Given the description of an element on the screen output the (x, y) to click on. 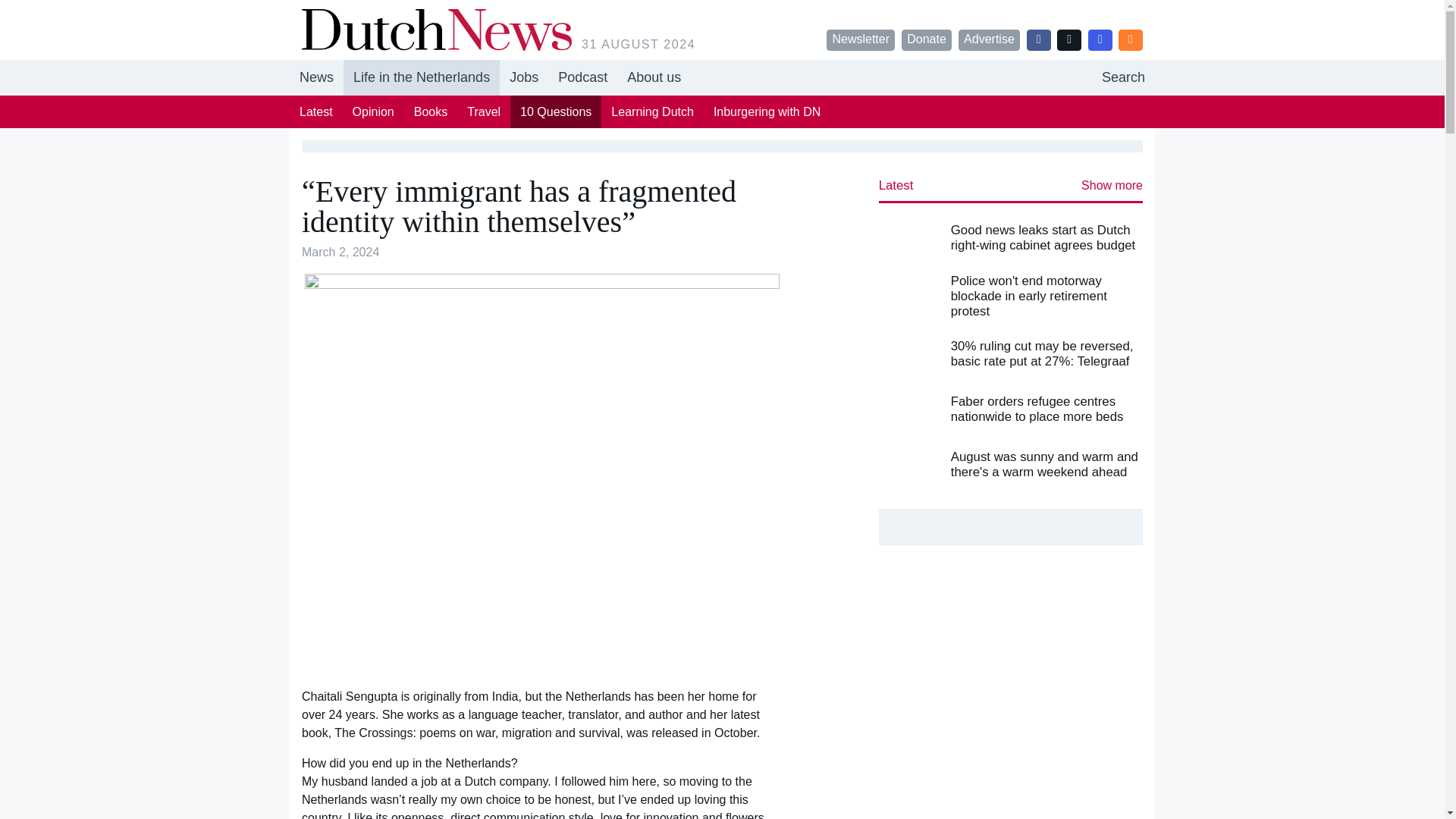
Inburgering with DN (766, 111)
Books (430, 111)
Advertise (989, 39)
hidden-in-footer (523, 77)
10 Questions (721, 77)
Travel (556, 111)
Opinion (484, 111)
Donate (373, 111)
About us (926, 39)
